Given the description of an element on the screen output the (x, y) to click on. 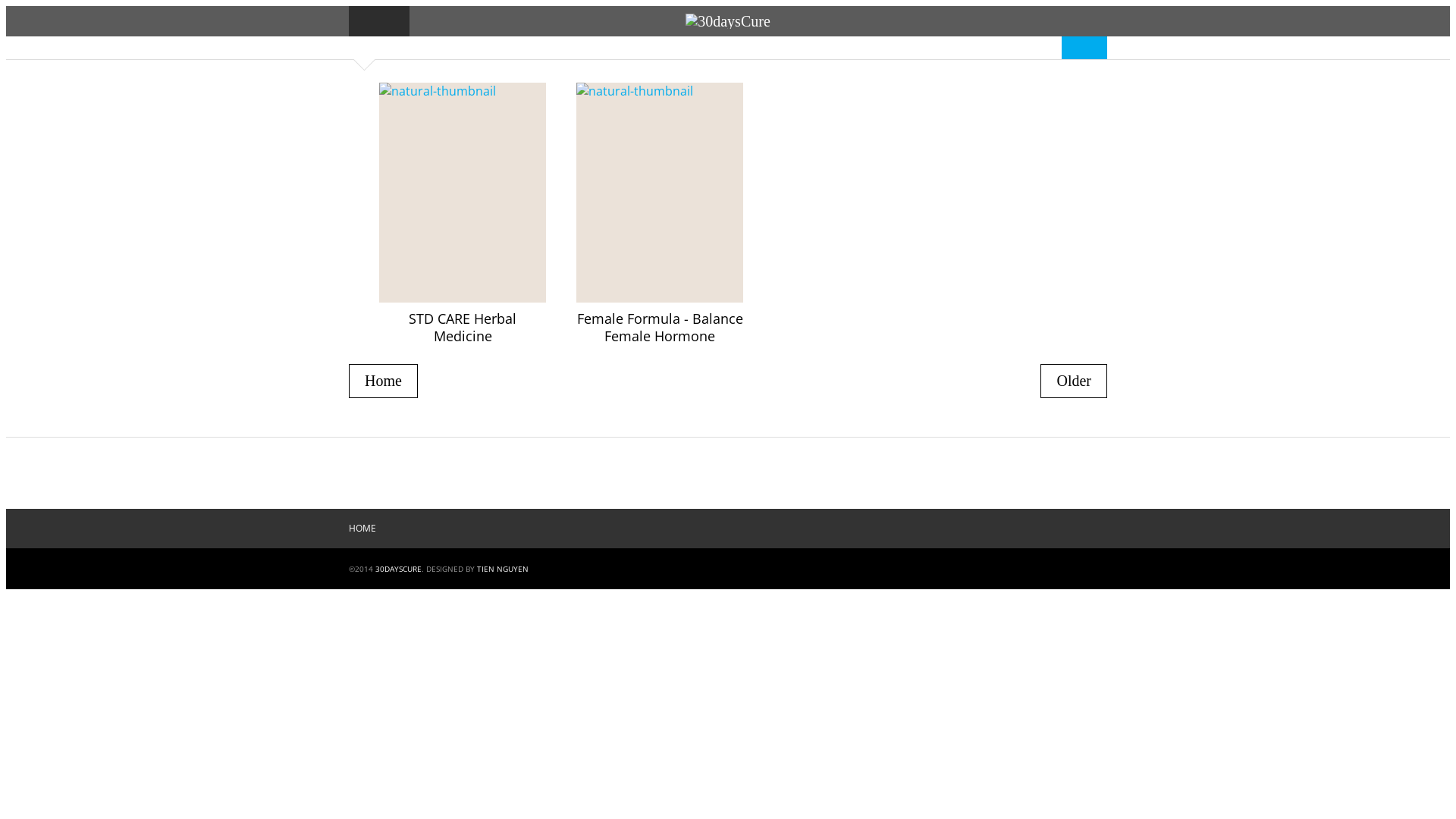
HOME Element type: text (362, 527)
Female Formula - Balance Female Hormone Element type: text (659, 327)
TIEN NGUYEN Element type: text (502, 568)
Older Element type: text (1073, 381)
Home Element type: text (382, 381)
STD CARE Herbal Medicine Element type: text (462, 327)
30daysCure Element type: hover (727, 20)
30DAYSCURE Element type: text (398, 568)
